Given the description of an element on the screen output the (x, y) to click on. 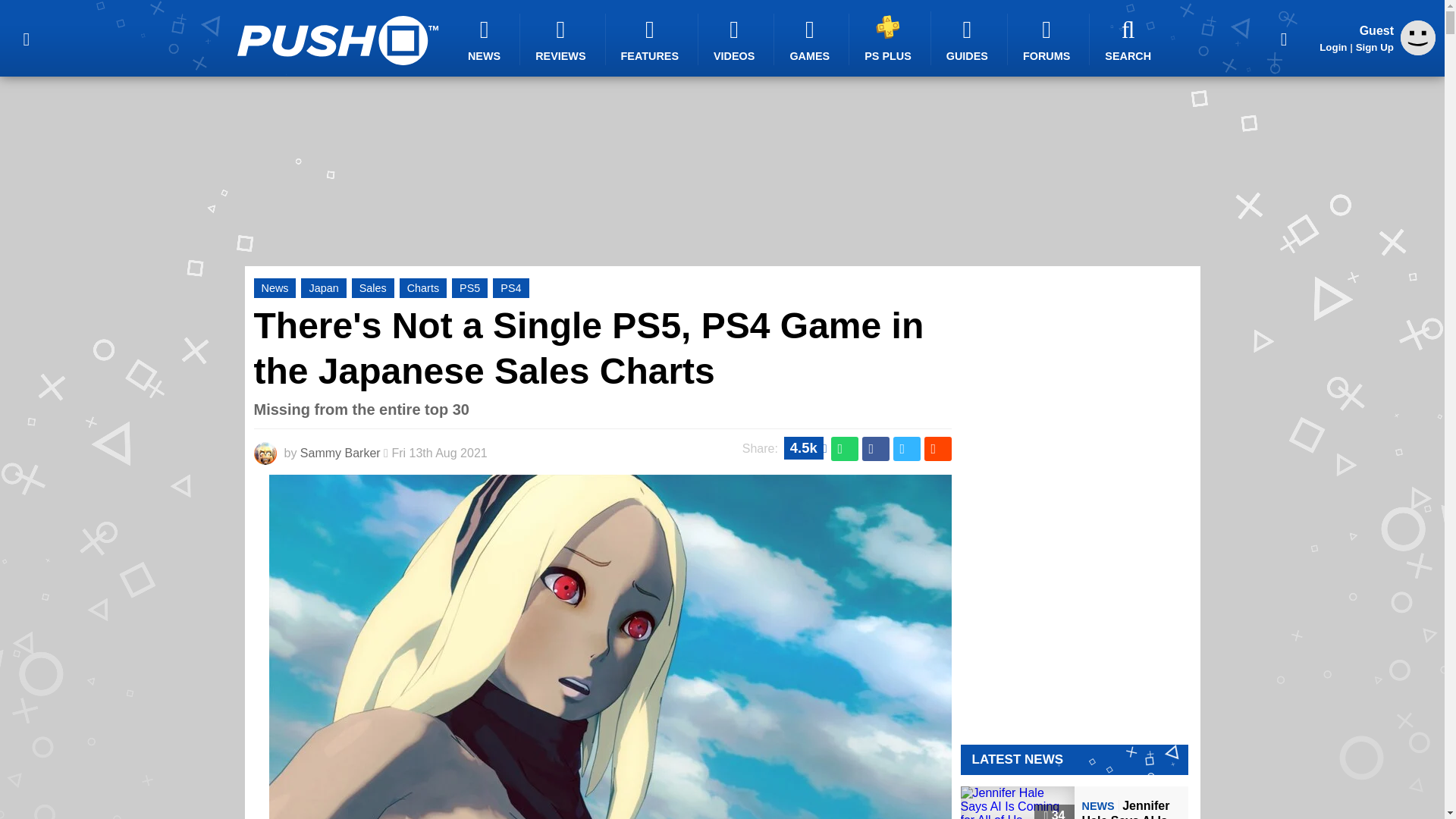
Guest (1417, 51)
Sign Up (1374, 47)
Share this on WhatsApp (845, 448)
Share This Page (1283, 37)
REVIEWS (562, 39)
Share this on Twitter (906, 448)
VIDEOS (736, 39)
Push Square (336, 40)
Sales (373, 288)
